Given the description of an element on the screen output the (x, y) to click on. 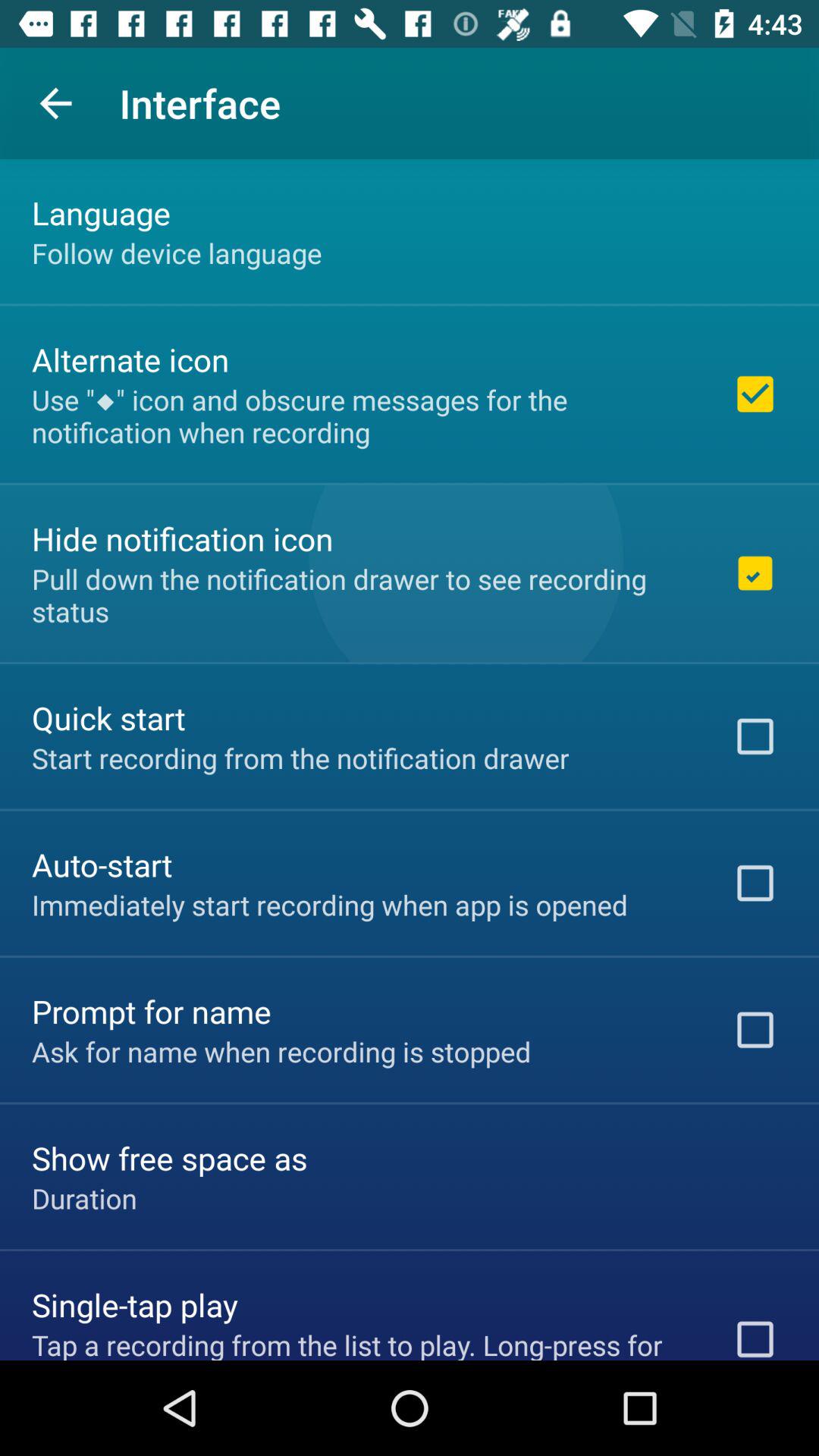
flip to pull down the (361, 595)
